Given the description of an element on the screen output the (x, y) to click on. 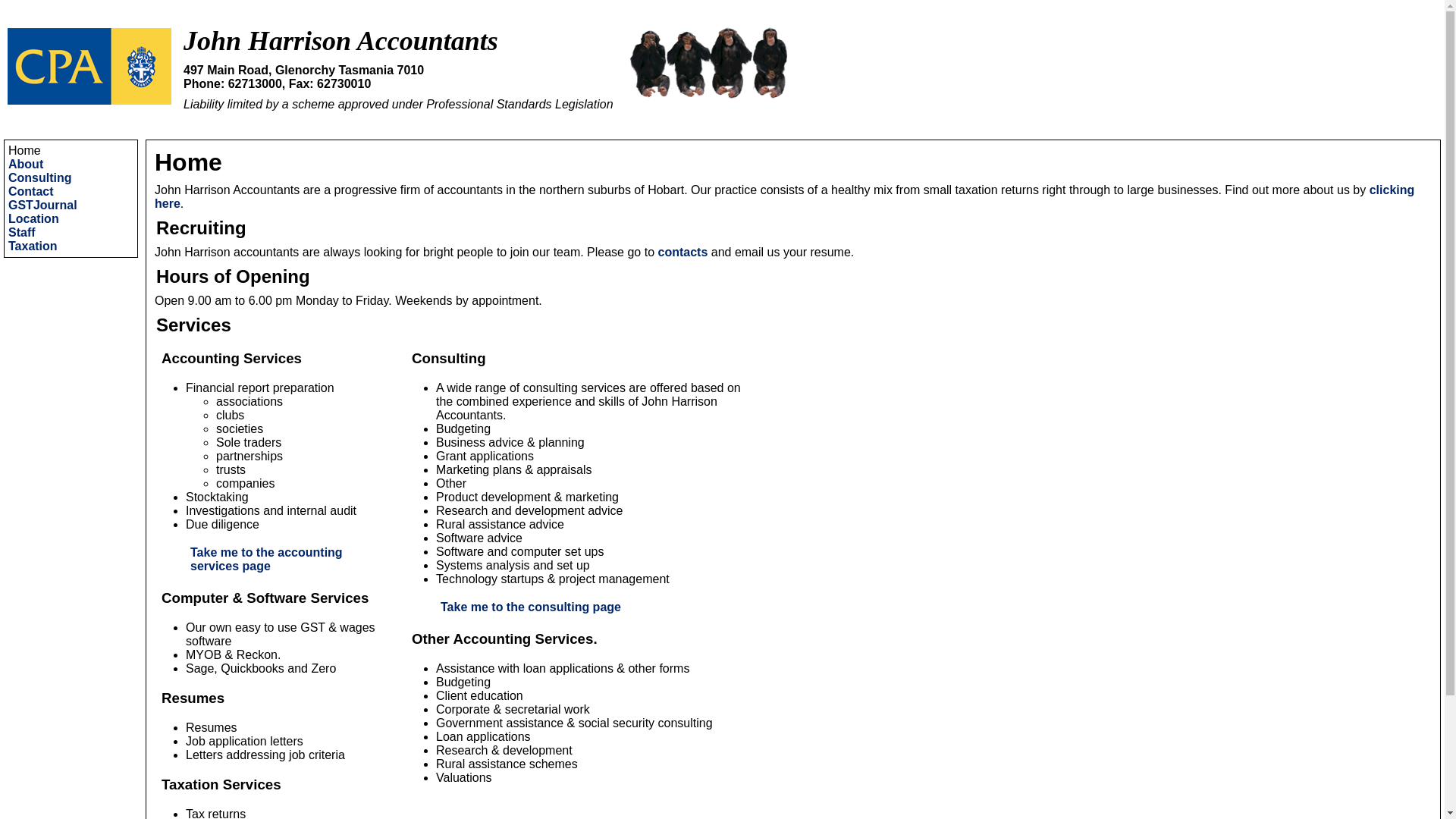
GSTJournal Element type: text (42, 204)
Take me to the accounting services page Element type: text (266, 559)
Taxation Element type: text (32, 245)
clicking here Element type: text (784, 196)
Contact Element type: text (30, 191)
contacts Element type: text (683, 251)
Consulting Element type: text (40, 177)
Take me to the consulting page Element type: text (530, 606)
Location Element type: text (33, 218)
Staff Element type: text (21, 231)
About Element type: text (25, 163)
